Given the description of an element on the screen output the (x, y) to click on. 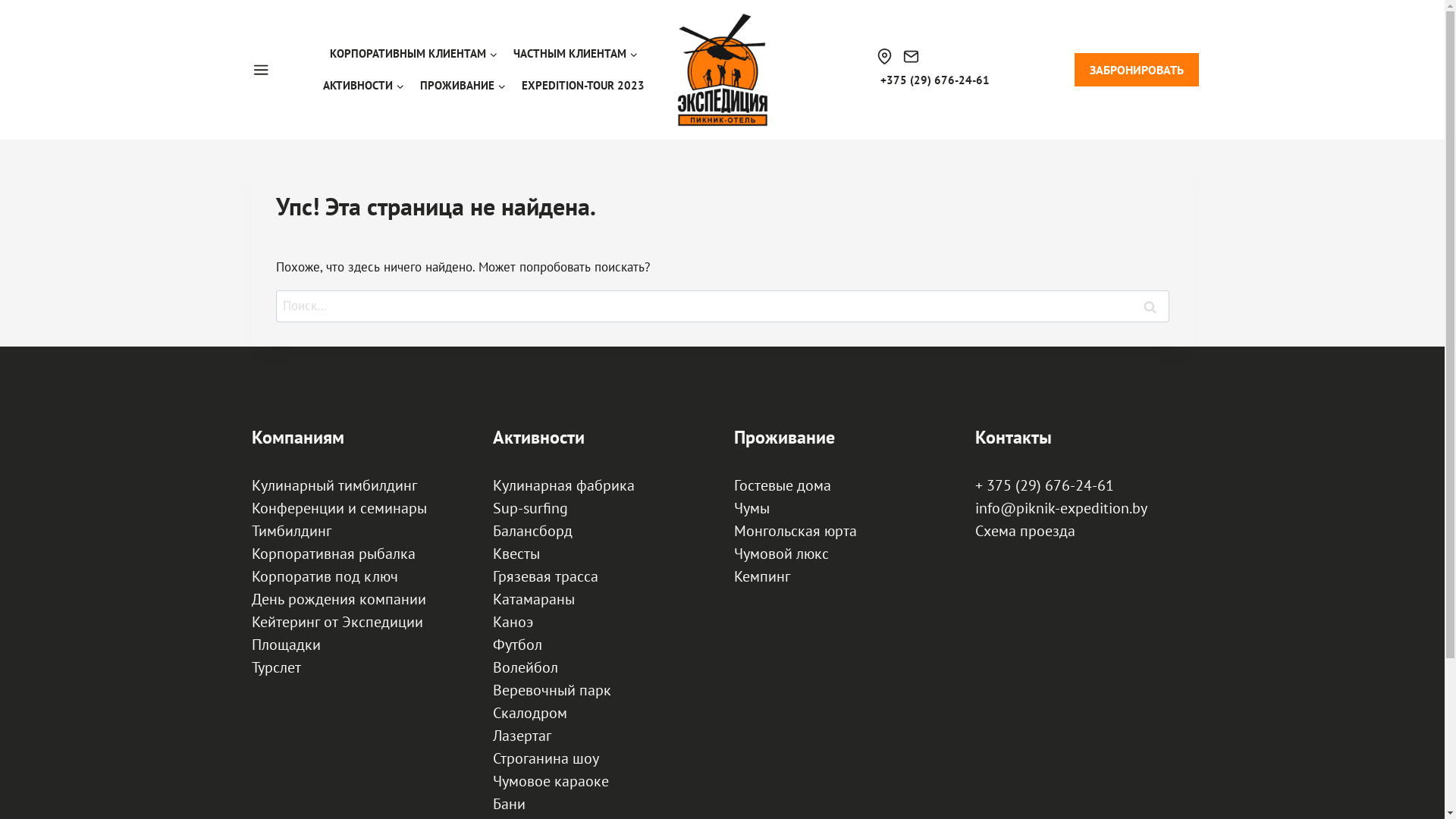
Sup-surfing Element type: text (529, 507)
+375 (29) 676-24-61 Element type: text (932, 80)
EXPEDITION-TOUR 2023 Element type: text (582, 85)
info@piknik-expedition.by Element type: text (1061, 507)
+ 375 (29) 676-24-61 Element type: text (1044, 485)
